Given the description of an element on the screen output the (x, y) to click on. 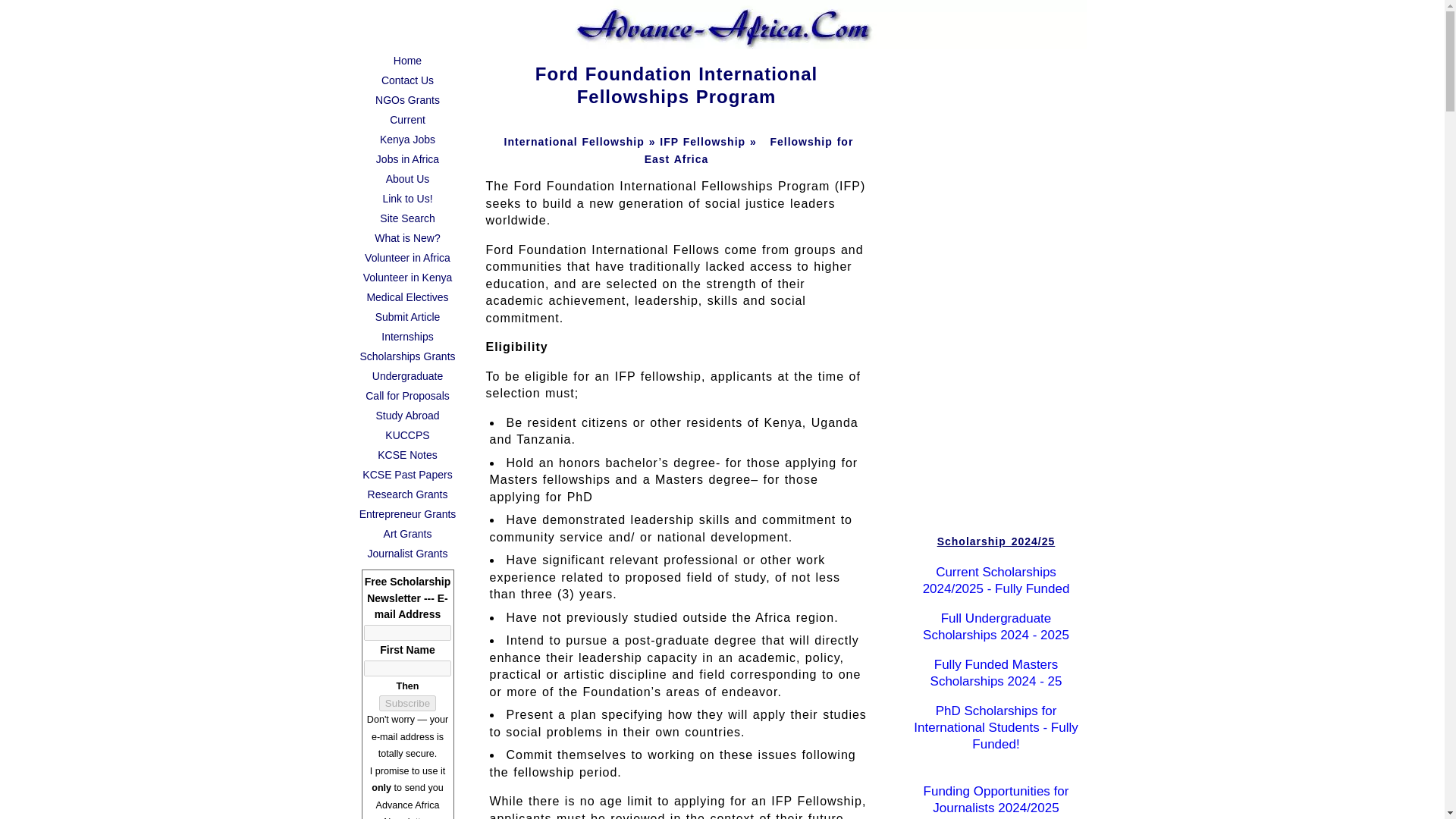
Current Scholarships (407, 119)
Journalist Grants (407, 553)
Call for Proposals (407, 395)
Subscribe (406, 702)
About Us (407, 178)
Site Search (407, 218)
Jobs in Africa (407, 158)
Link to Us! (407, 198)
Home (407, 60)
KCSE Notes (407, 455)
Volunteer in Africa (407, 257)
Volunteer in Kenya (407, 277)
Art Grants (407, 533)
Medical Electives (407, 297)
Scholarships Grants (407, 356)
